Given the description of an element on the screen output the (x, y) to click on. 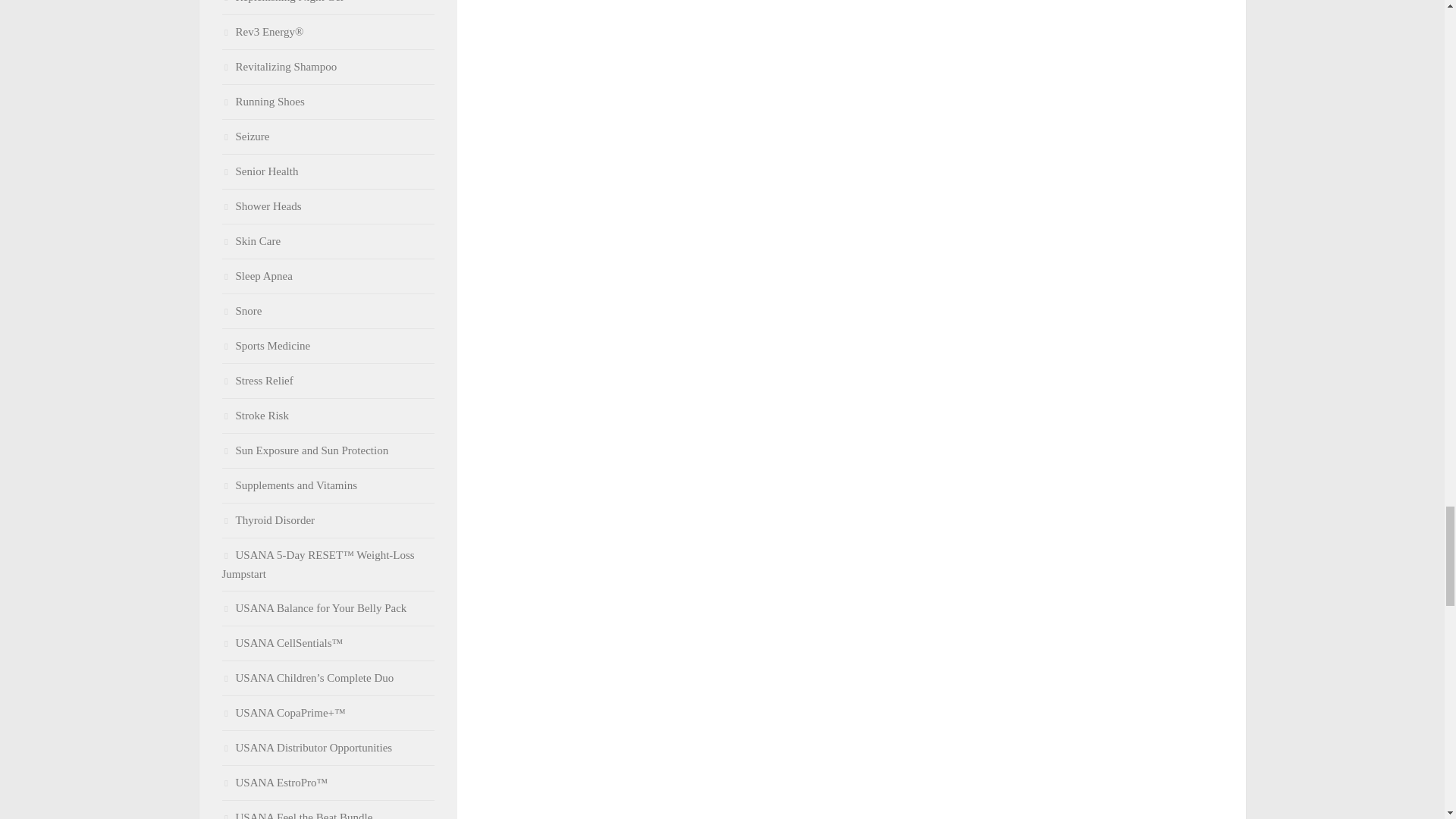
Become A USANA Independent Distributor (306, 747)
